Given the description of an element on the screen output the (x, y) to click on. 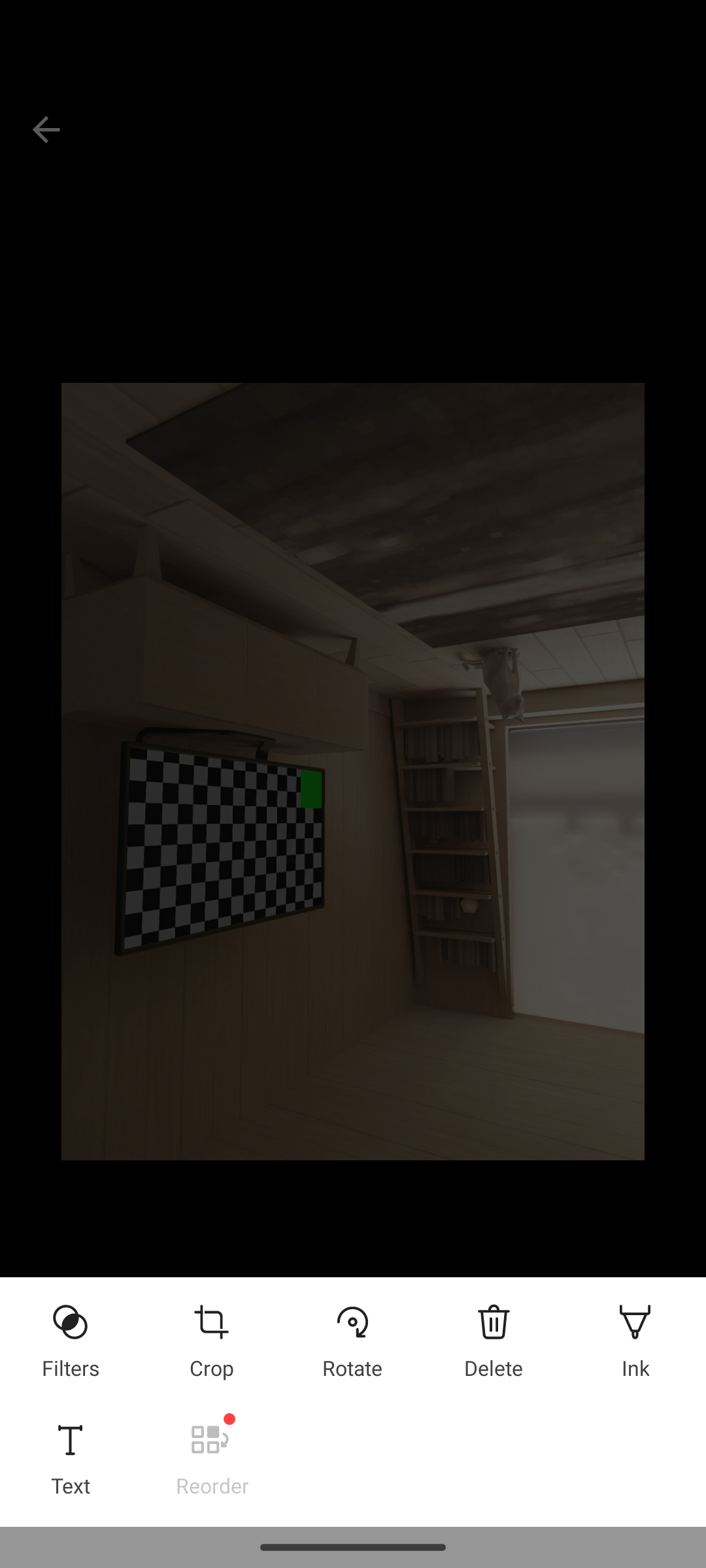
Filters (69, 1335)
Crop (211, 1335)
Rotate (352, 1335)
Delete (493, 1335)
Ink (634, 1335)
Text (69, 1453)
Reorder (211, 1453)
